Given the description of an element on the screen output the (x, y) to click on. 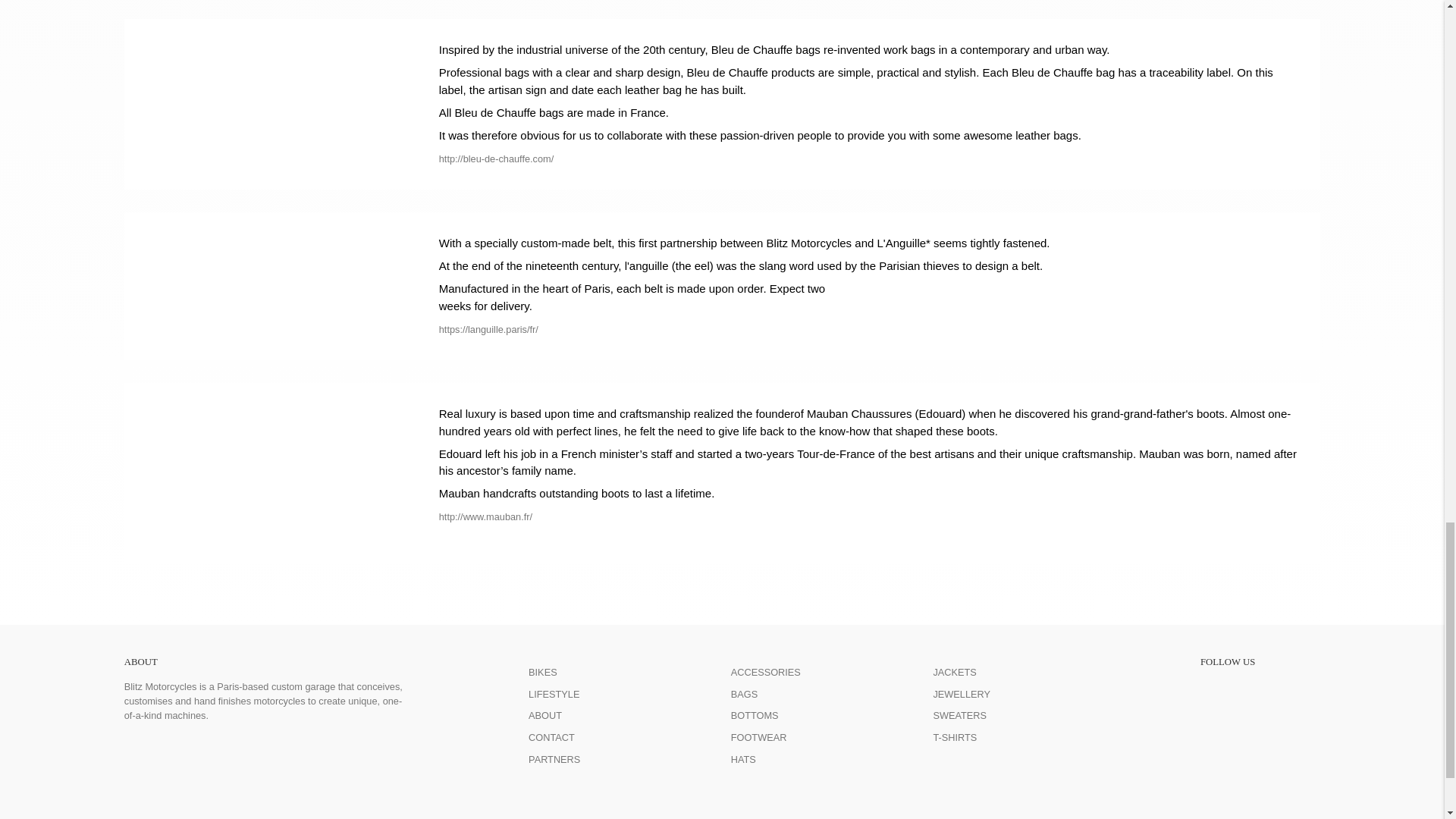
BIKES (542, 672)
